Given the description of an element on the screen output the (x, y) to click on. 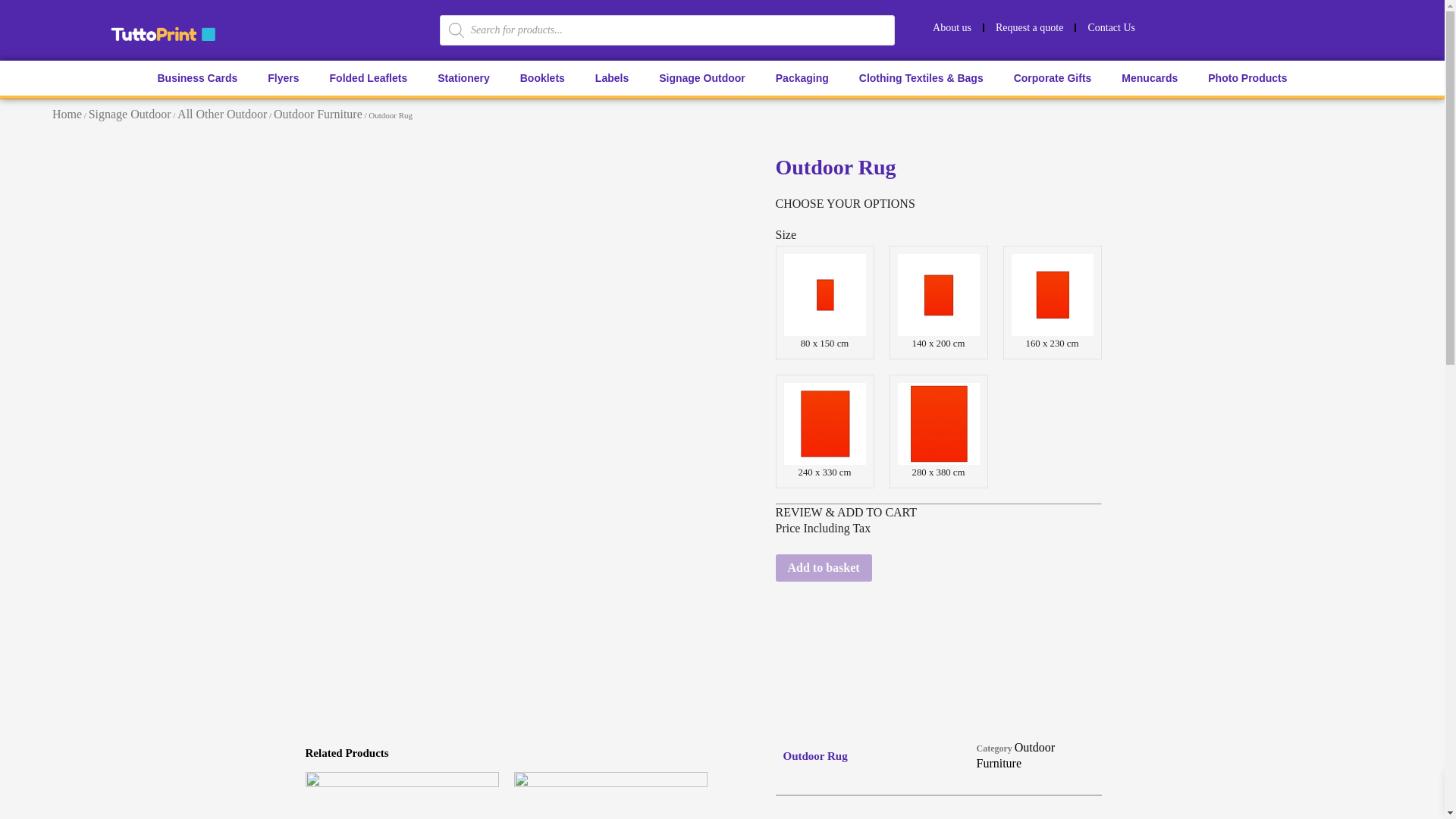
Business Cards (196, 77)
Signage Outdoor (701, 77)
Booklets (542, 77)
Stationery (462, 77)
Flyers (282, 77)
Labels (611, 77)
Contact Us (1111, 27)
Packaging (802, 77)
Folded Leaflets (368, 77)
Request a quote (1029, 27)
